Given the description of an element on the screen output the (x, y) to click on. 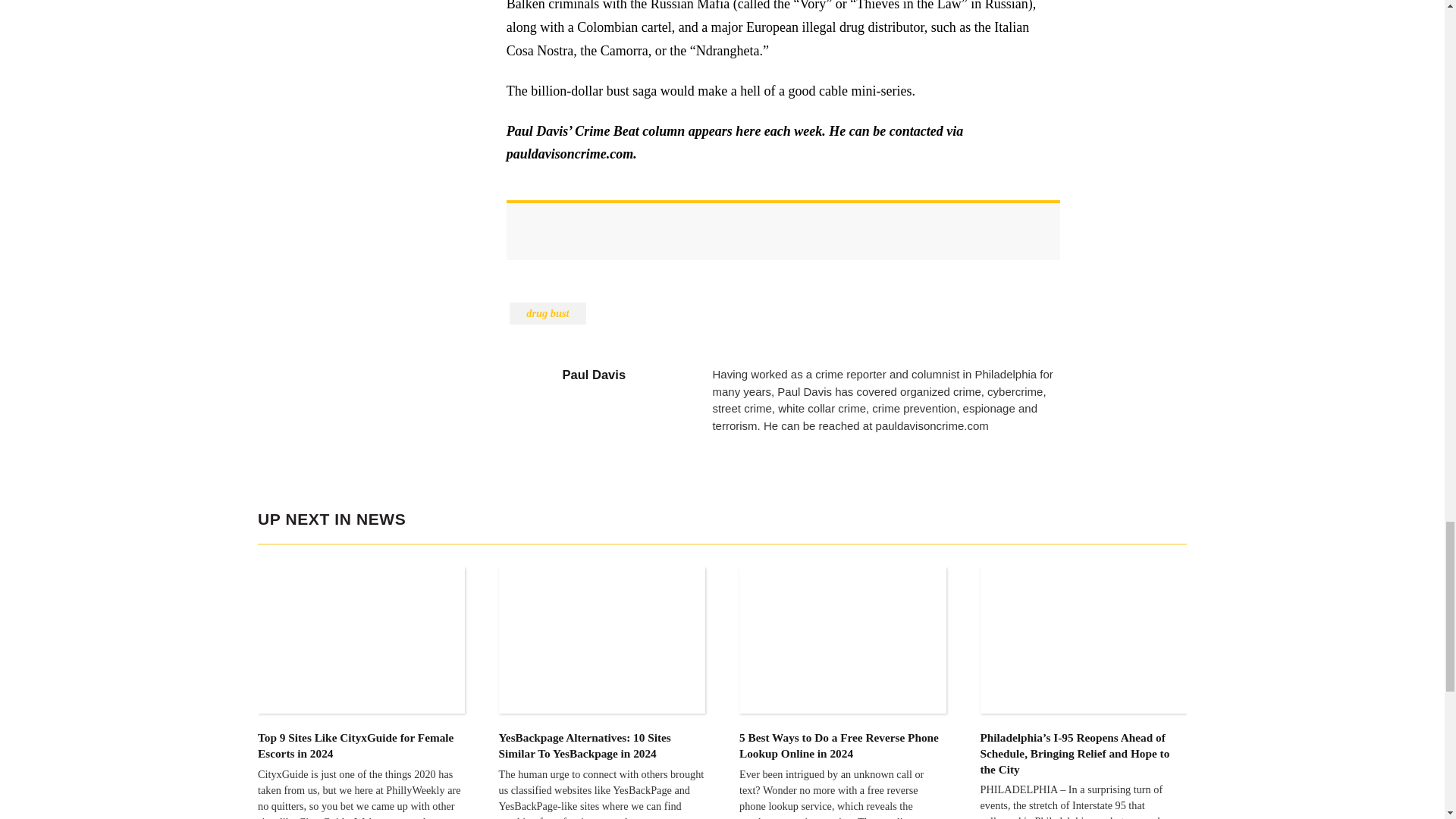
5 Best Ways to Do a Free Reverse Phone Lookup Online in 2024 (842, 702)
Top 9 Sites Like CityxGuide for Female Escorts in 2024 (360, 745)
Top 9 Sites Like CityxGuide for Female Escorts in 2024 (360, 702)
 drug bust  (547, 313)
